Given the description of an element on the screen output the (x, y) to click on. 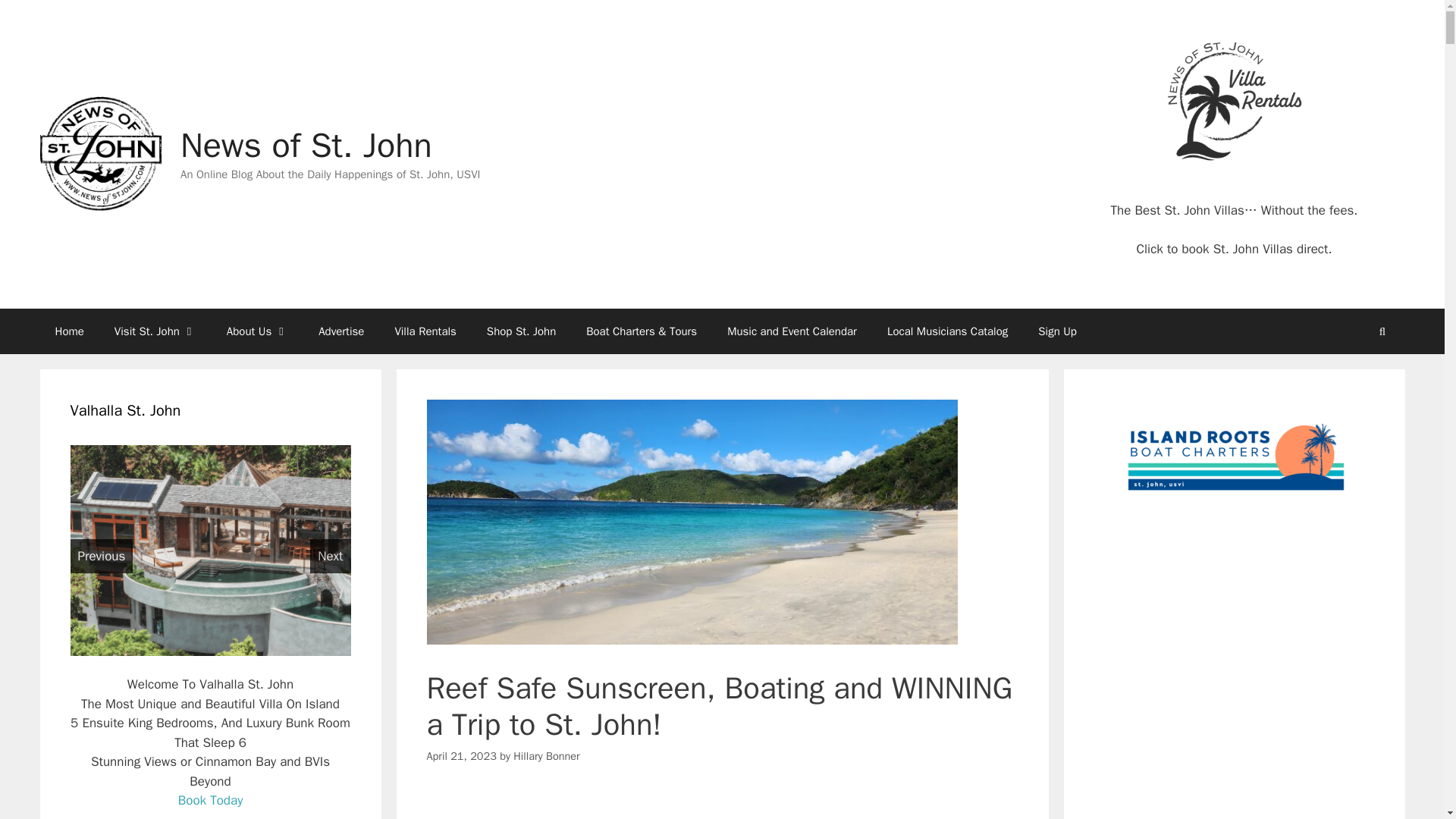
Hillary Bonner (546, 755)
Advertise (340, 330)
Visit St. John (155, 330)
News of St. John (99, 154)
Home (69, 330)
Local Musicians Catalog (947, 330)
Click to book St. John Villas direct. (1233, 248)
About Us (256, 330)
News of St. John (306, 145)
Villa Rentals (424, 330)
View all posts by Hillary Bonner (546, 755)
Shop St. John (520, 330)
News of St. John (99, 153)
Advertisement (721, 805)
April 21, 2023 (461, 755)
